Given the description of an element on the screen output the (x, y) to click on. 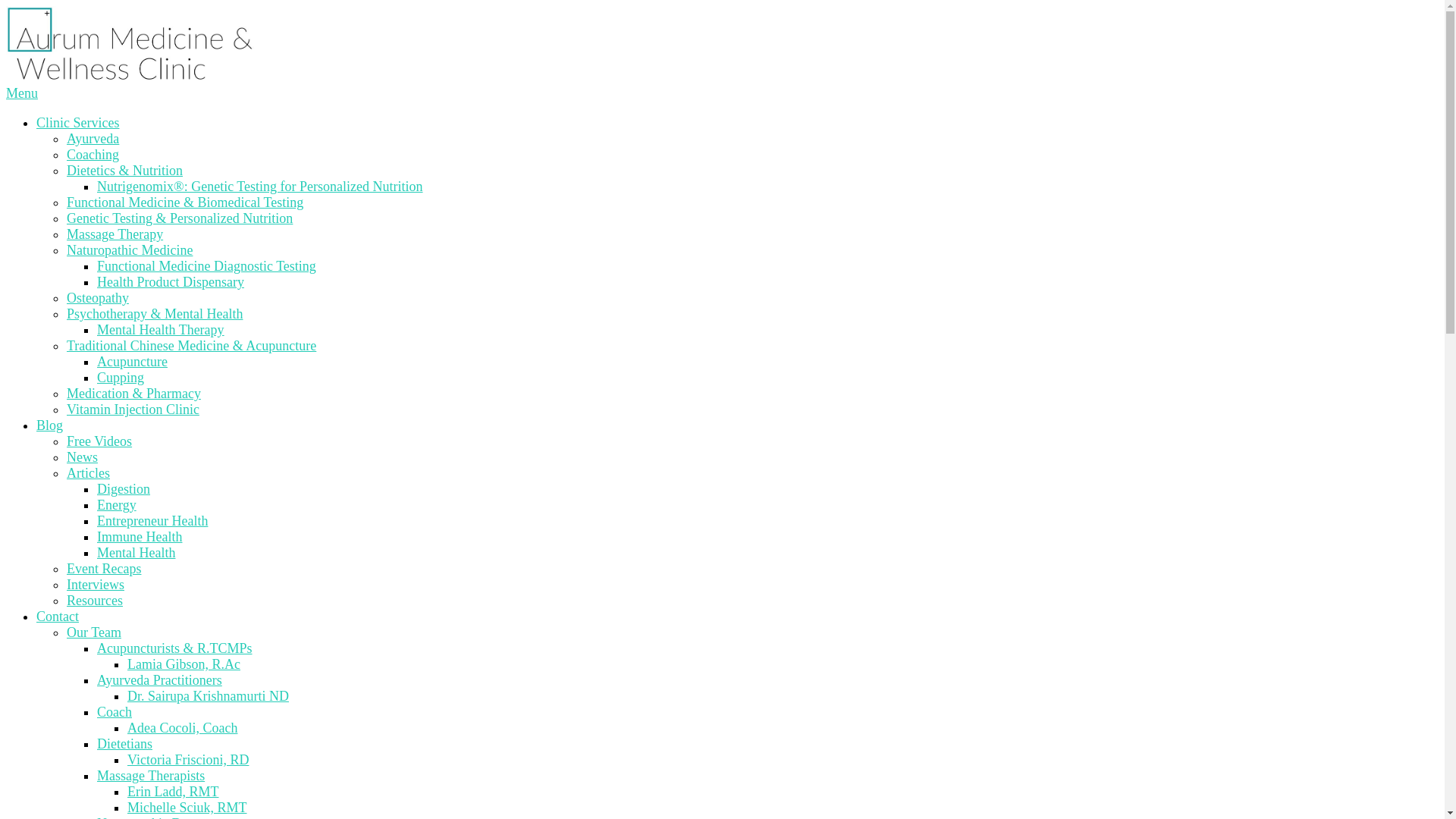
News Element type: text (81, 456)
Energy Element type: text (116, 504)
Contact Element type: text (57, 616)
Lamia Gibson, R.Ac Element type: text (183, 663)
Adea Cocoli, Coach Element type: text (182, 727)
Massage Therapists Element type: text (150, 775)
Menu Element type: text (21, 92)
Cupping Element type: text (120, 377)
Articles Element type: text (87, 472)
Dietetians Element type: text (124, 743)
Michelle Sciuk, RMT Element type: text (186, 807)
Our Team Element type: text (93, 632)
Clinic Services Element type: text (77, 122)
Mental Health Therapy Element type: text (160, 329)
Blog Element type: text (49, 425)
Dietetics & Nutrition Element type: text (124, 170)
Coaching Element type: text (92, 154)
Free Videos Element type: text (98, 440)
Psychotherapy & Mental Health Element type: text (154, 313)
Skip to content Element type: text (5, 5)
Dr. Sairupa Krishnamurti ND Element type: text (207, 695)
Event Recaps Element type: text (103, 568)
Functional Medicine & Biomedical Testing Element type: text (184, 202)
Traditional Chinese Medicine & Acupuncture Element type: text (191, 345)
Vitamin Injection Clinic Element type: text (132, 409)
Entrepreneur Health Element type: text (152, 520)
Medication & Pharmacy Element type: text (133, 393)
Coach Element type: text (114, 711)
Acupuncture Element type: text (132, 361)
Naturopathic Medicine Element type: text (129, 249)
Victoria Friscioni, RD Element type: text (187, 759)
Ayurveda Element type: text (92, 138)
Massage Therapy Element type: text (114, 233)
Mental Health Element type: text (136, 552)
Health Product Dispensary Element type: text (170, 281)
Interviews Element type: text (95, 584)
Ayurveda Practitioners Element type: text (159, 679)
Osteopathy Element type: text (97, 297)
Resources Element type: text (94, 600)
Digestion Element type: text (123, 488)
Genetic Testing & Personalized Nutrition Element type: text (179, 217)
Immune Health Element type: text (139, 536)
Erin Ladd, RMT Element type: text (172, 791)
Acupuncturists & R.TCMPs Element type: text (174, 647)
Functional Medicine Diagnostic Testing Element type: text (206, 265)
